Given the description of an element on the screen output the (x, y) to click on. 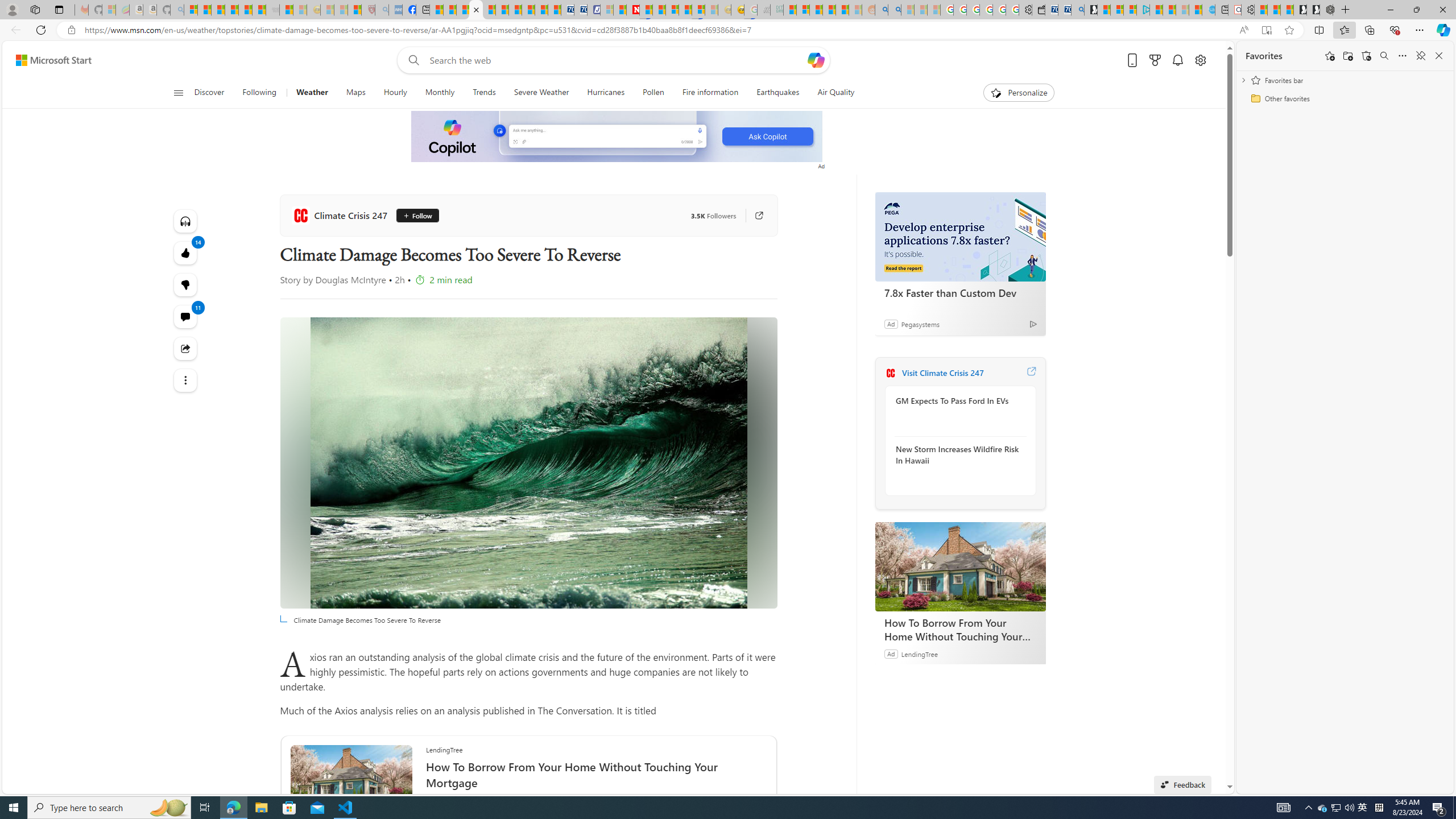
14 (184, 284)
LendingTree (919, 653)
Follow (417, 215)
Restore deleted favorites (1366, 55)
